Given the description of an element on the screen output the (x, y) to click on. 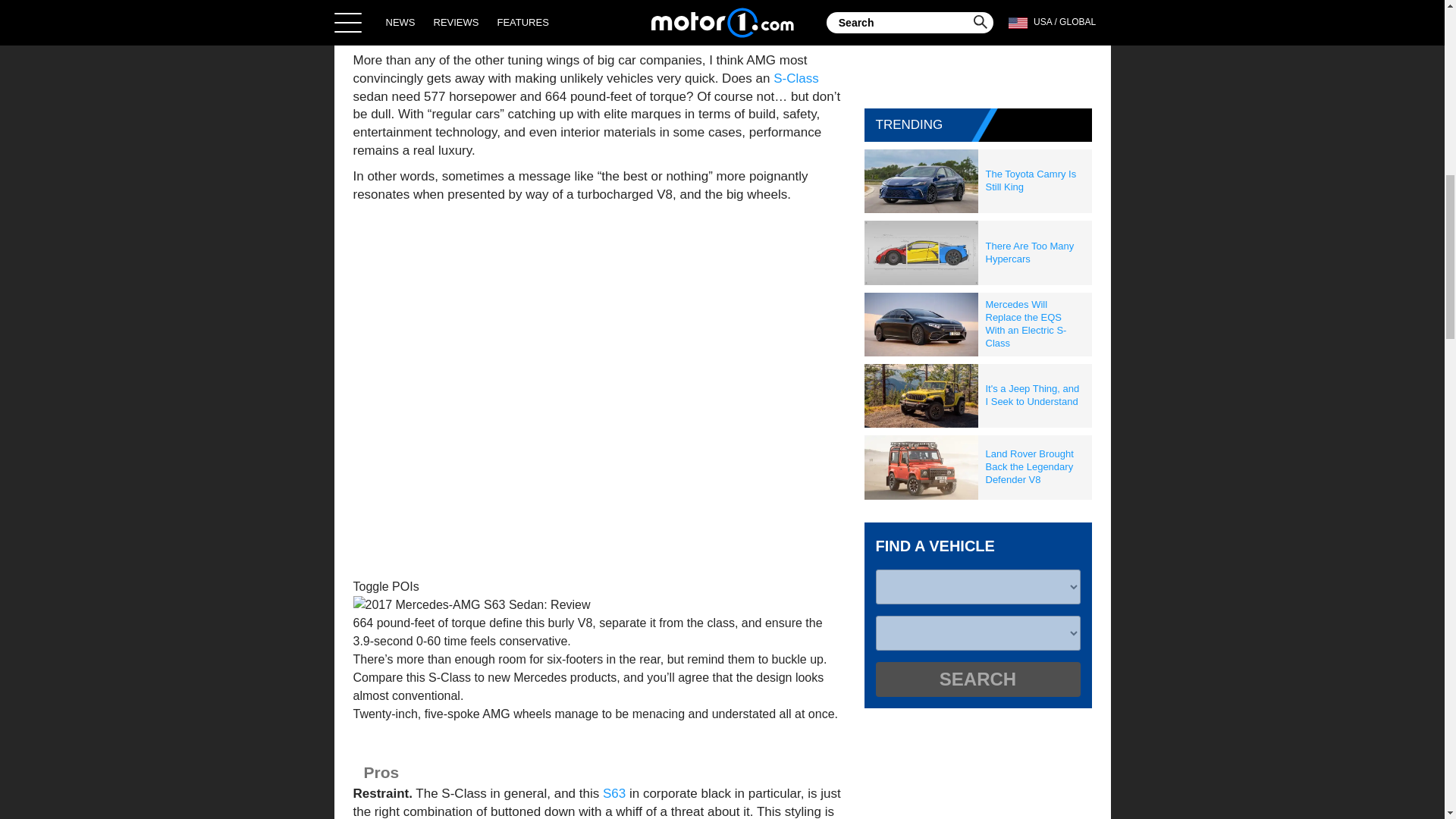
S-Class (795, 78)
Search (977, 678)
S63 (614, 793)
